Given the description of an element on the screen output the (x, y) to click on. 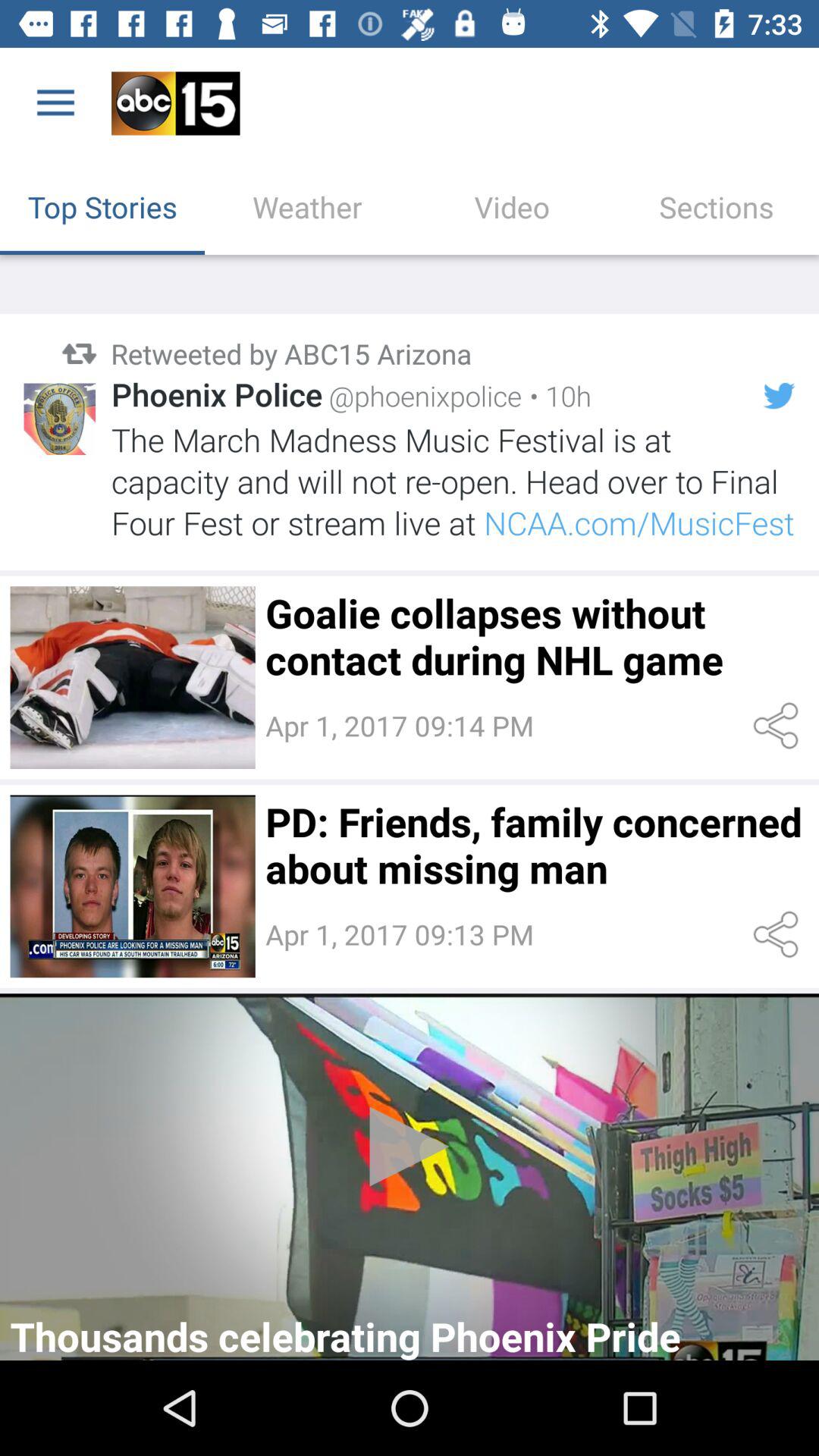
play the video (409, 1176)
